Given the description of an element on the screen output the (x, y) to click on. 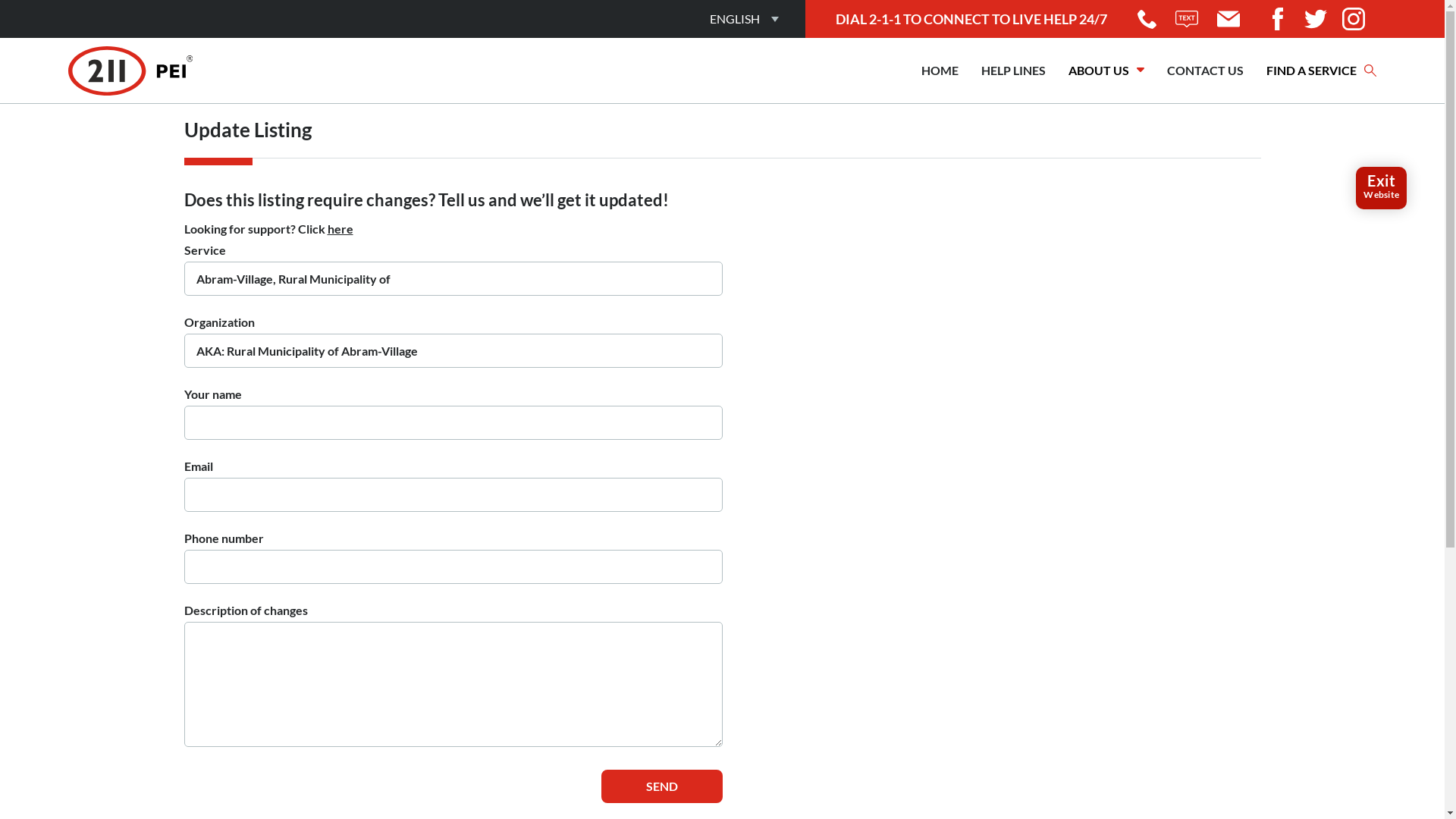
ENGLISH Element type: text (734, 18)
ABOUT US Element type: text (1106, 70)
HELP LINES Element type: text (1013, 70)
HOME Element type: text (939, 70)
SEND Element type: text (660, 786)
here Element type: text (340, 228)
Exit
Website Element type: text (1380, 187)
CONTACT US Element type: text (1205, 70)
FIND A SERVICE Element type: text (1321, 70)
